Given the description of an element on the screen output the (x, y) to click on. 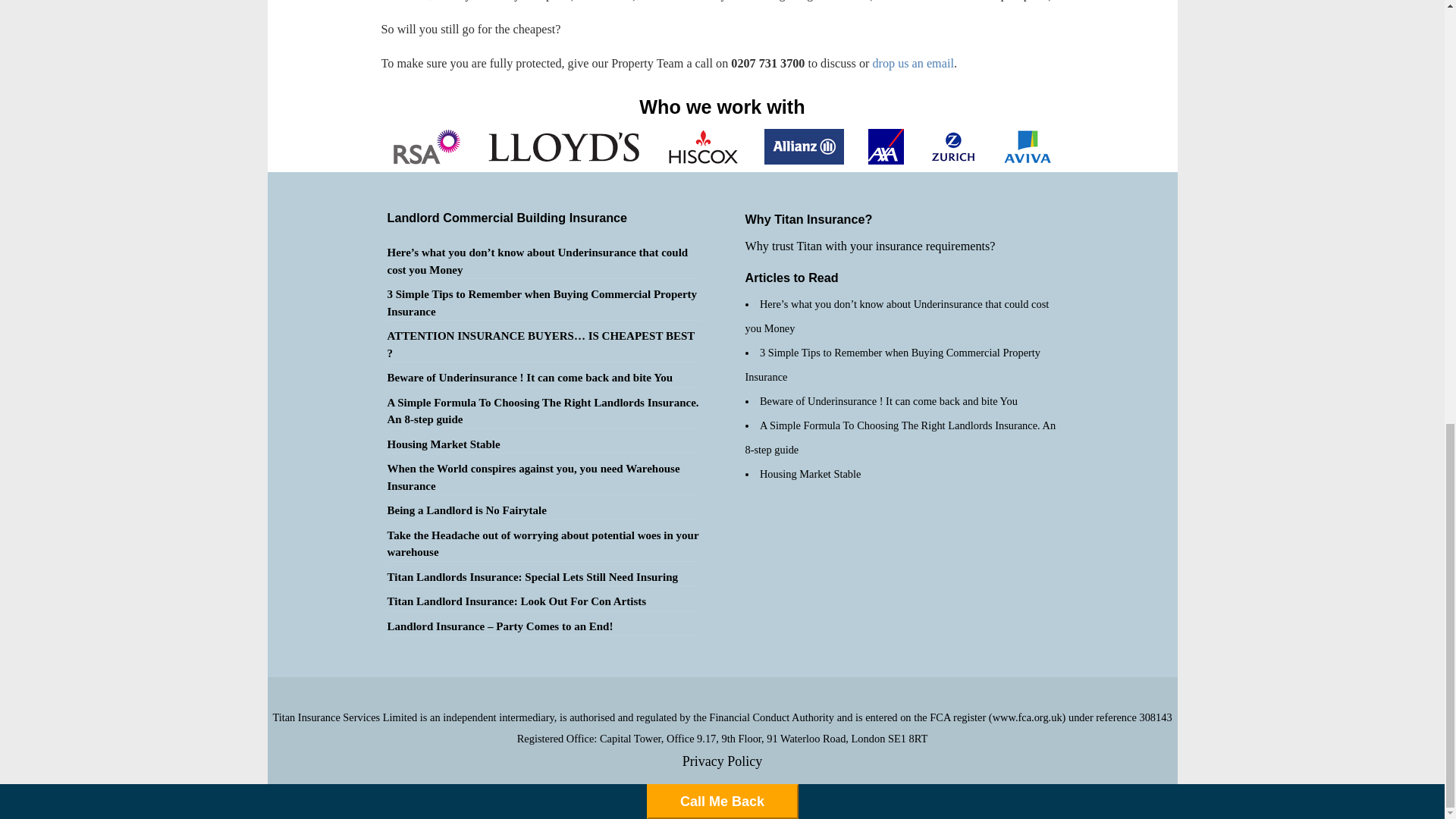
Housing Market Stable (443, 444)
Beware of Underinsurance !  It can come back and bite You (529, 377)
Titan Landlord Insurance: Look Out For Con Artists (516, 601)
Being a Landlord is No Fairytale (466, 510)
Titan Landlords Insurance: Special Lets Still Need Insuring (532, 576)
